Given the description of an element on the screen output the (x, y) to click on. 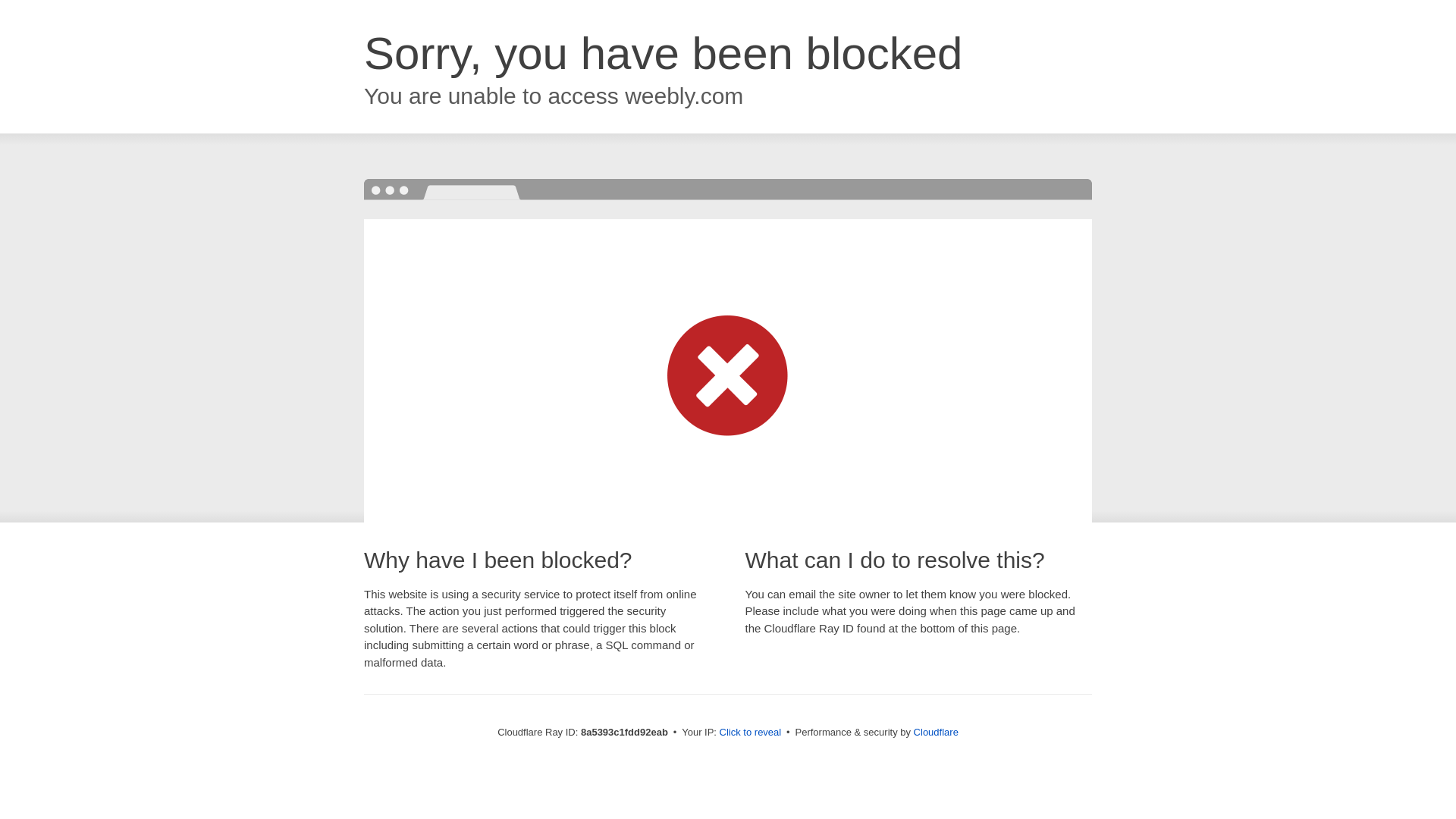
Cloudflare (936, 731)
Click to reveal (750, 732)
